Given the description of an element on the screen output the (x, y) to click on. 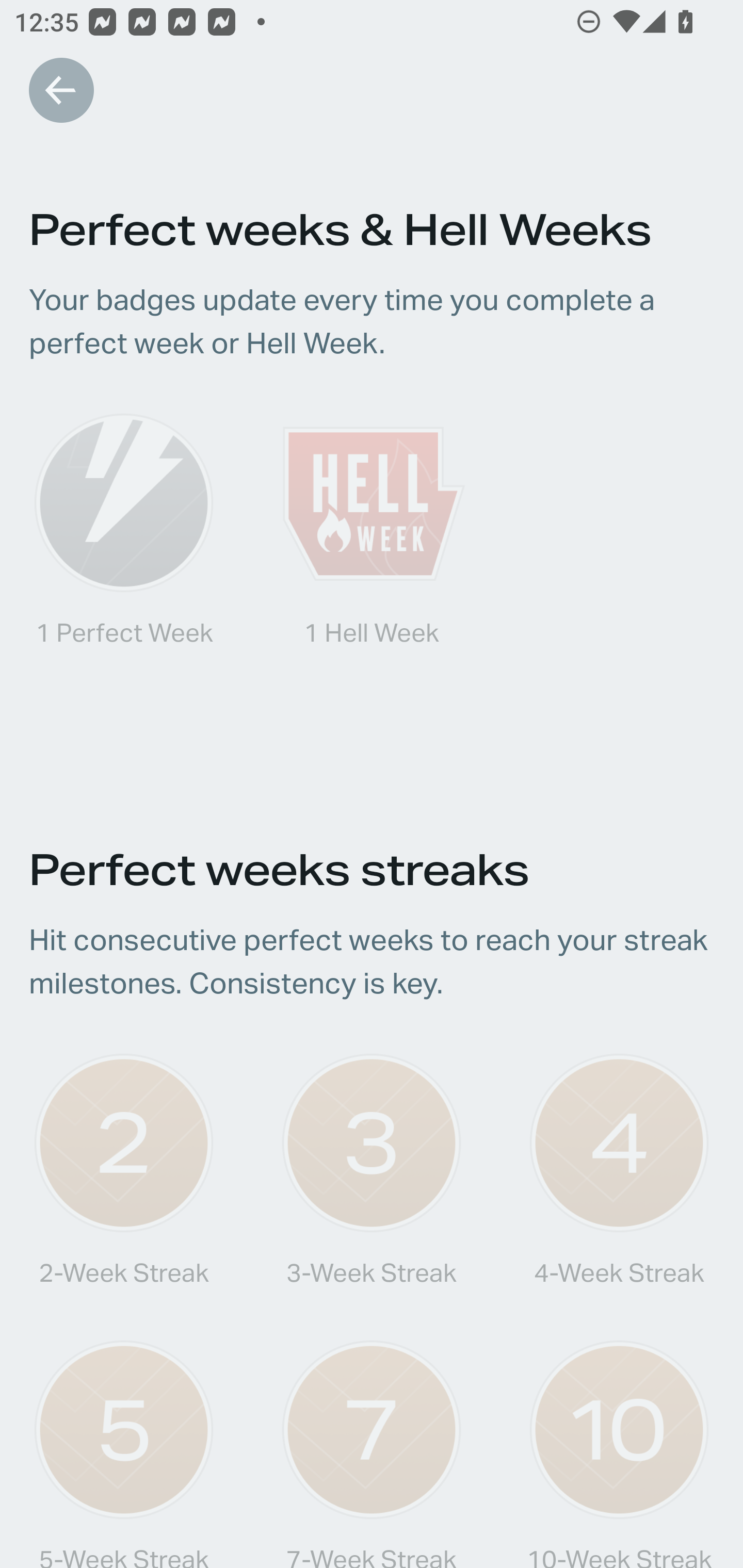
Go back (60, 90)
1 Perfect Week (123, 592)
1 Hell Week (371, 592)
2-Week Streak (123, 1190)
3-Week Streak (371, 1190)
4-Week Streak (619, 1190)
5-Week Streak (123, 1451)
7-Week Streak (371, 1451)
10-Week Streak (619, 1451)
